Given the description of an element on the screen output the (x, y) to click on. 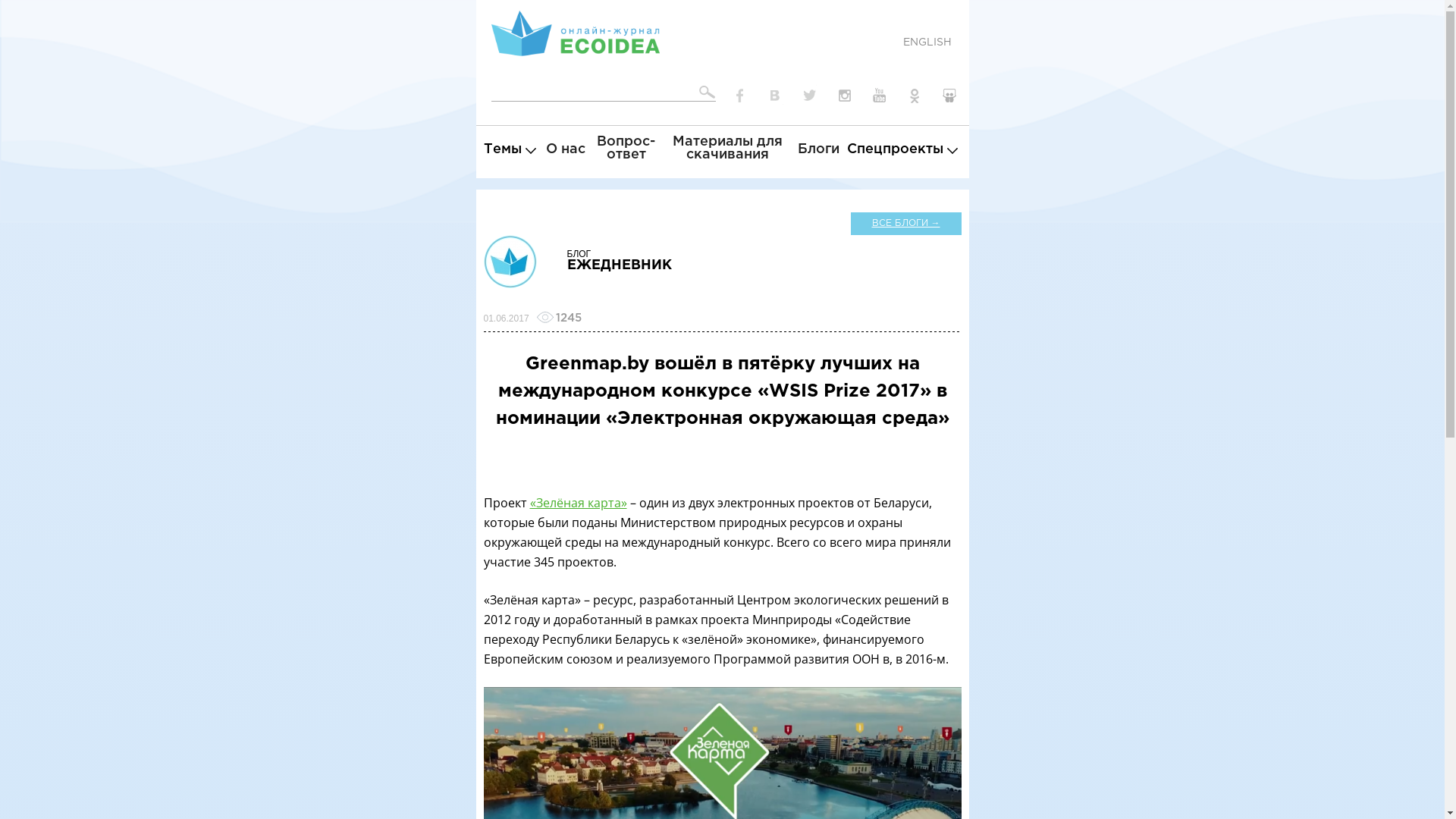
VK Element type: text (774, 95)
YouTube Element type: text (879, 95)
OK Element type: text (914, 95)
Twitter Element type: text (809, 95)
Facebook Element type: text (739, 95)
Jump to navigation Element type: text (722, 2)
Slideshare Element type: text (949, 95)
ENGLISH Element type: text (926, 42)
Instagram Element type: text (844, 95)
